Given the description of an element on the screen output the (x, y) to click on. 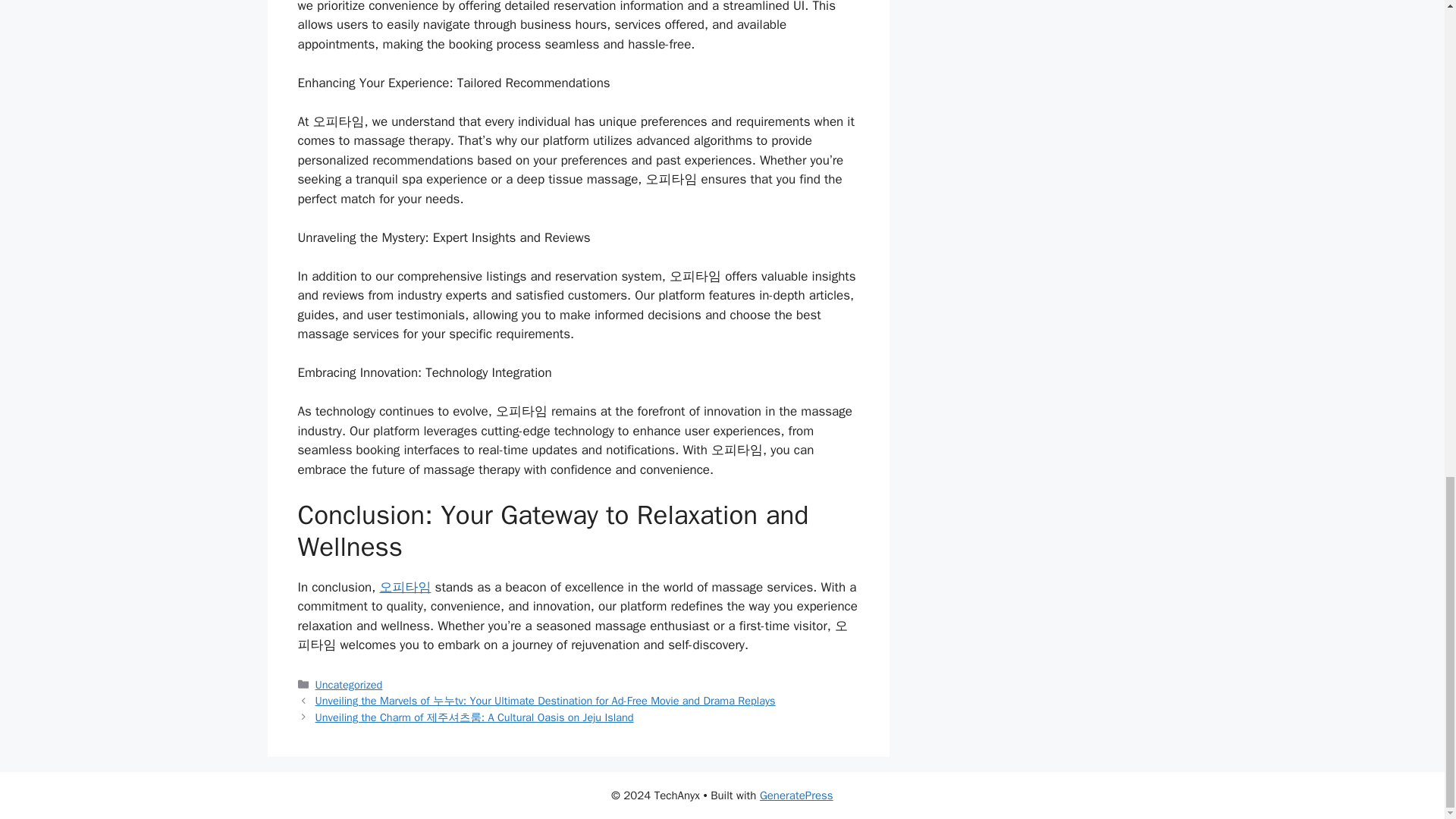
Uncategorized (348, 684)
GeneratePress (796, 795)
